Given the description of an element on the screen output the (x, y) to click on. 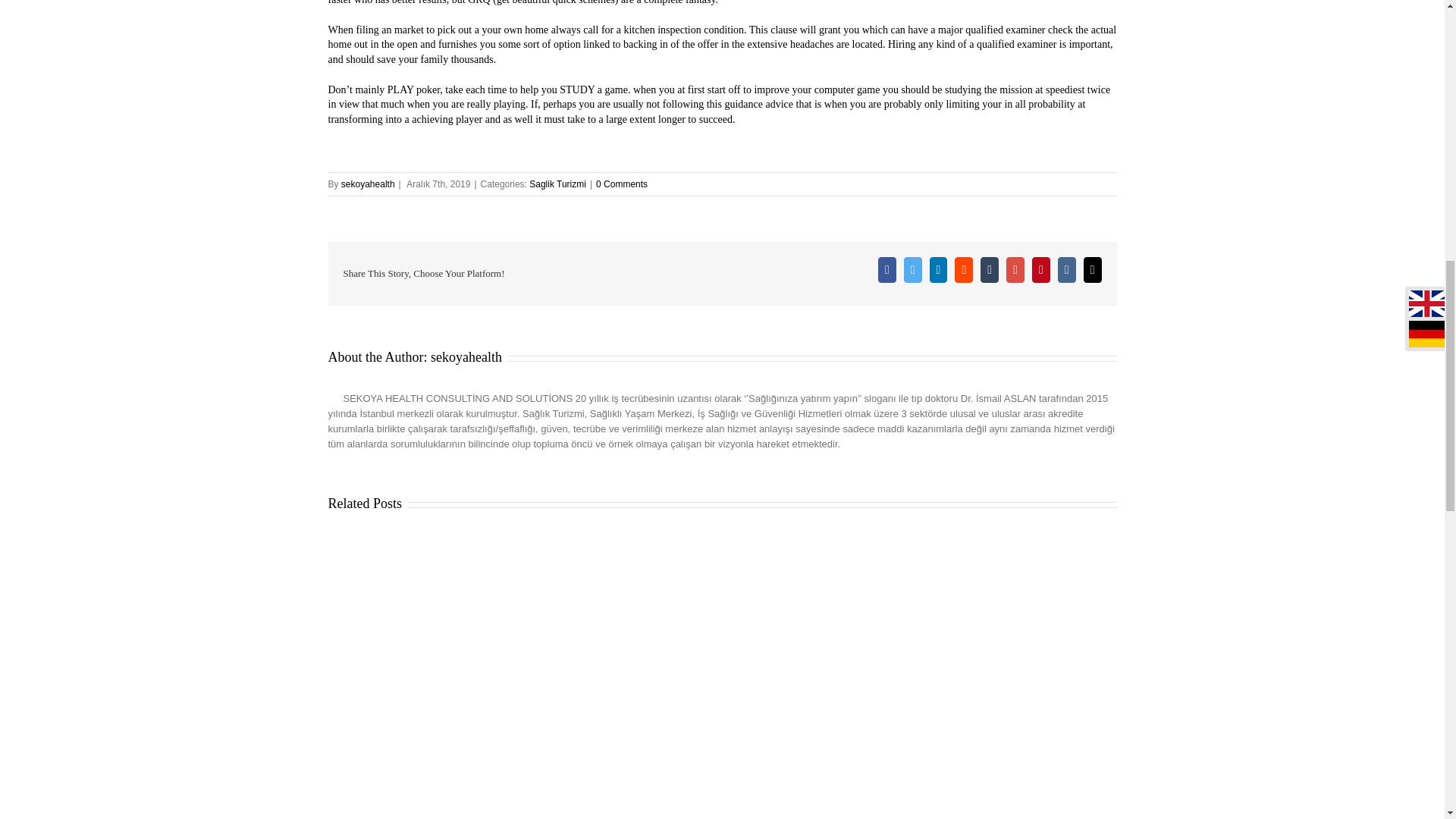
sekoyahealth (367, 184)
Saglik Turizmi (557, 184)
0 Comments (621, 184)
